Given the description of an element on the screen output the (x, y) to click on. 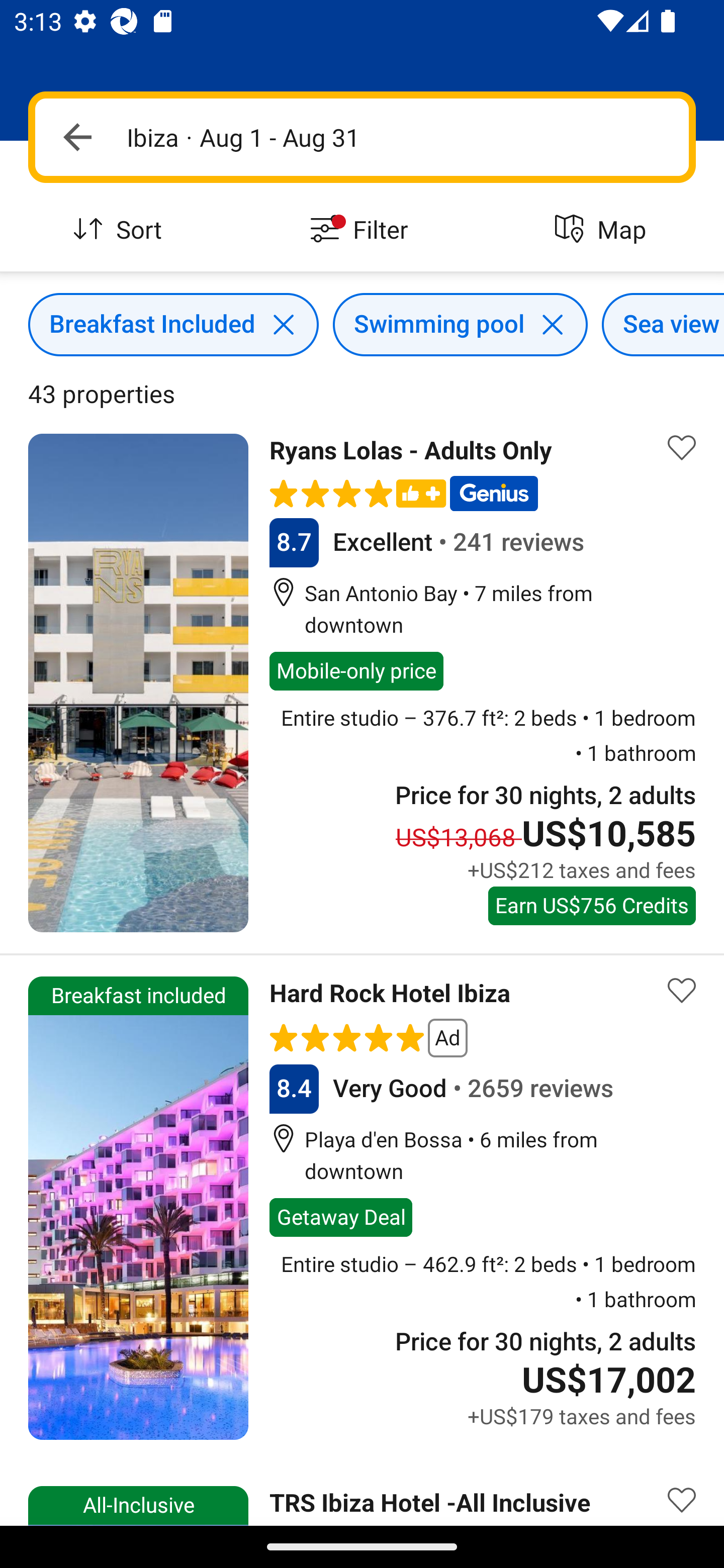
Navigate up Ibiza · Aug 1 - Aug 31 (362, 136)
Navigate up (77, 136)
Sort (120, 230)
Filter (361, 230)
Map (603, 230)
Save property to list (681, 447)
Save property to list (681, 990)
Save property to list (681, 1491)
